Given the description of an element on the screen output the (x, y) to click on. 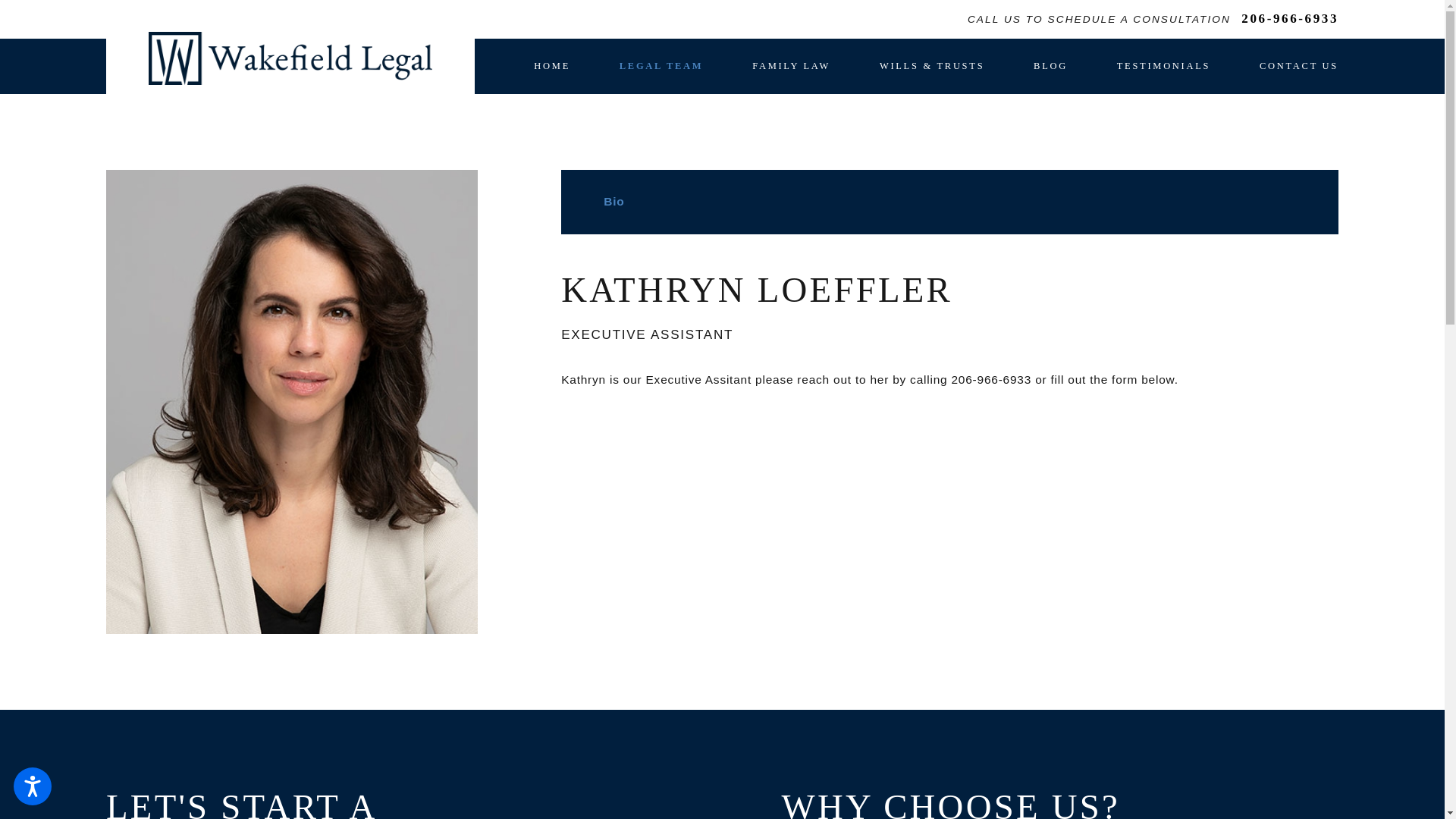
206-966-6933 (1289, 19)
HOME (552, 65)
Wakefield Legal, PLLC (290, 58)
FAMILY LAW (790, 65)
LEGAL TEAM (661, 65)
Open the accessibility options menu (31, 786)
Bio (949, 202)
